Given the description of an element on the screen output the (x, y) to click on. 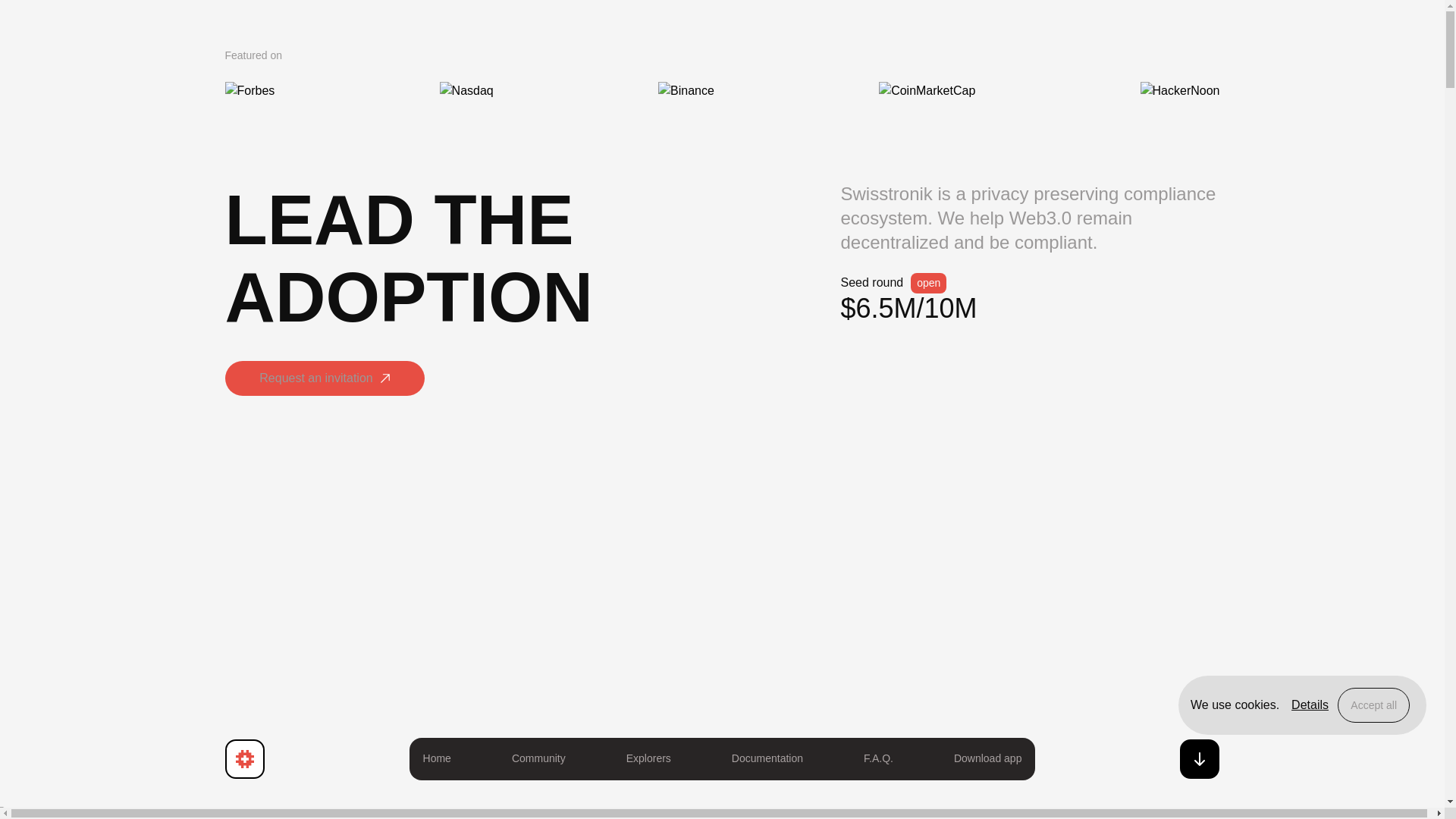
Request an invitation (323, 384)
